Given the description of an element on the screen output the (x, y) to click on. 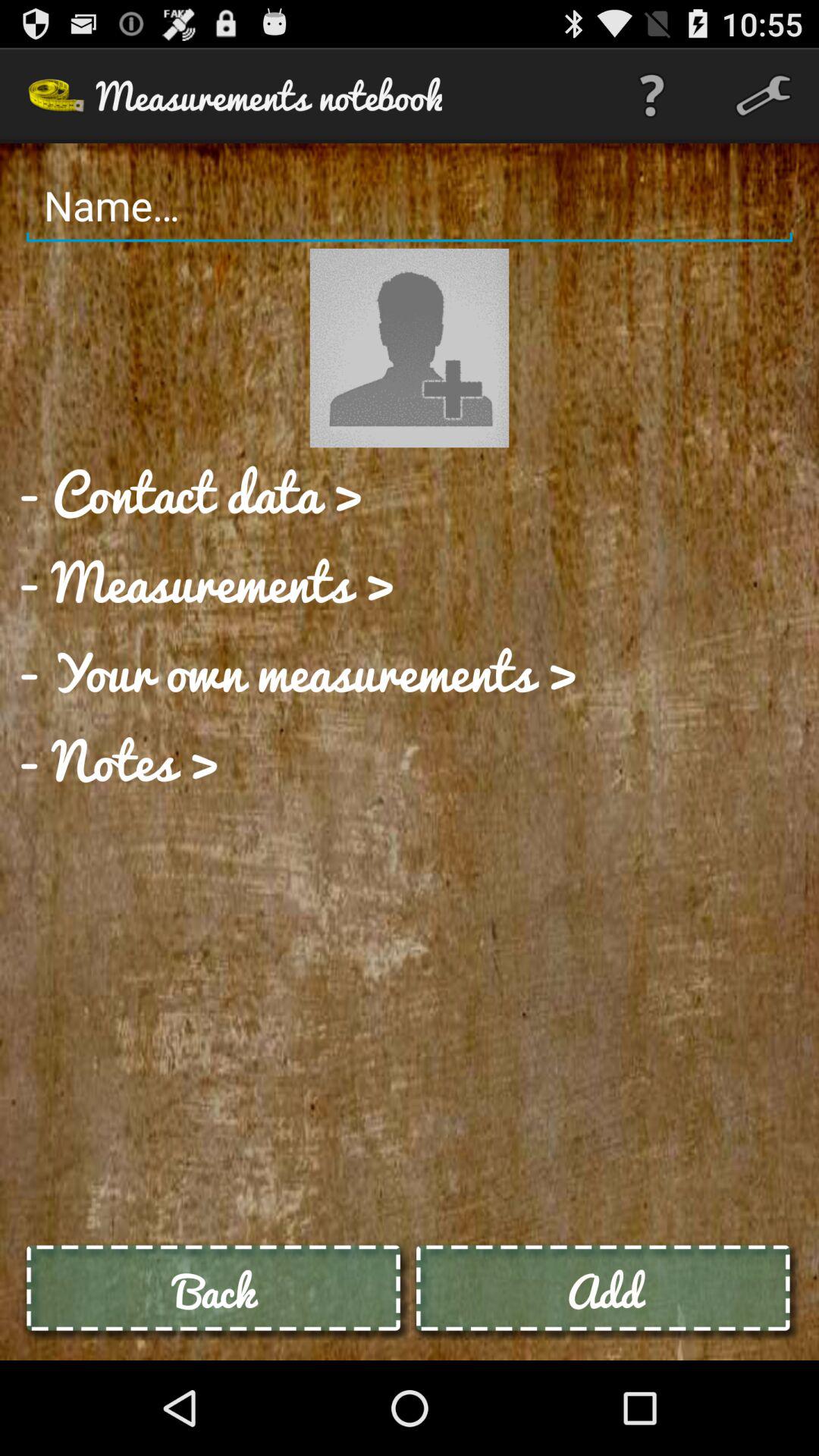
select icon to the right of the back button (604, 1290)
